Given the description of an element on the screen output the (x, y) to click on. 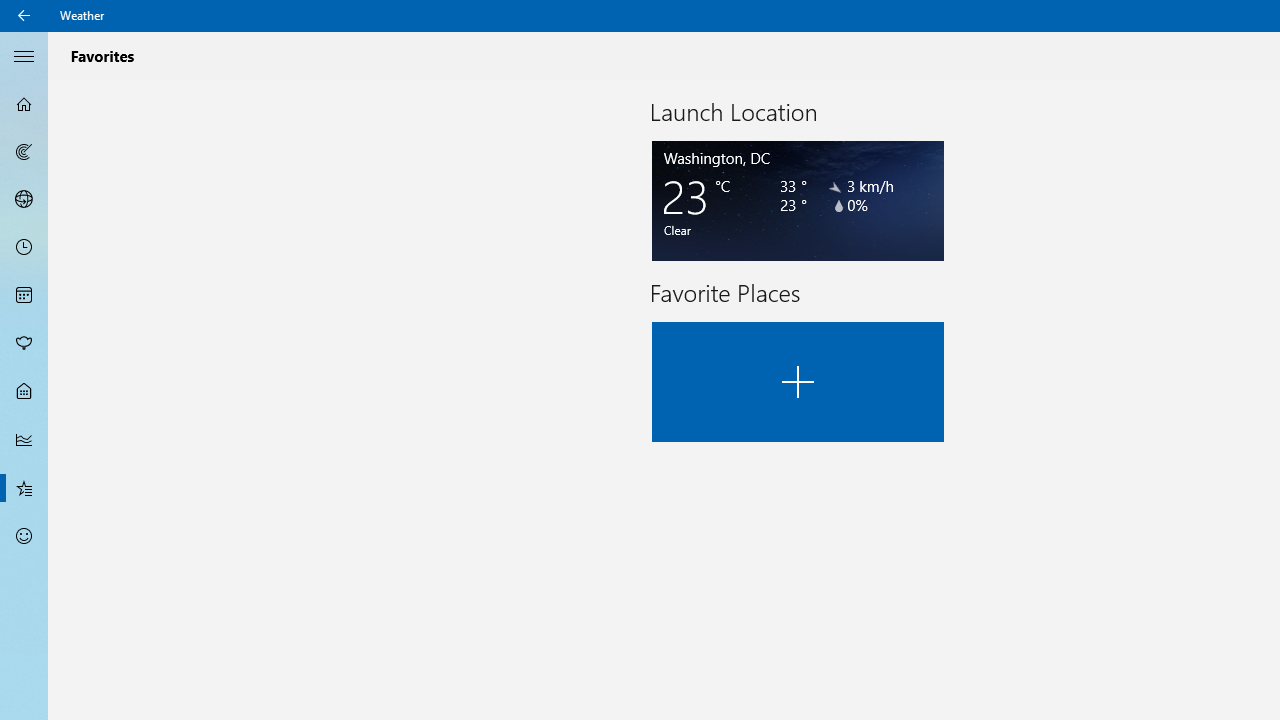
Favorites - Not Selected (24, 487)
Back (24, 15)
Pollen - Not Selected (24, 343)
Maps - Not Selected (24, 151)
Pollen - Not Selected (24, 343)
Monthly Forecast - Not Selected (24, 295)
Historical Weather - Not Selected (24, 439)
Send Feedback - Not Selected (24, 535)
Send Feedback - Not Selected (24, 535)
Monthly Forecast - Not Selected (24, 295)
Add to Favorites (797, 381)
Maps - Not Selected (24, 151)
Collapse Navigation (24, 55)
3D Maps - Not Selected (24, 199)
Historical Weather - Not Selected (24, 439)
